Given the description of an element on the screen output the (x, y) to click on. 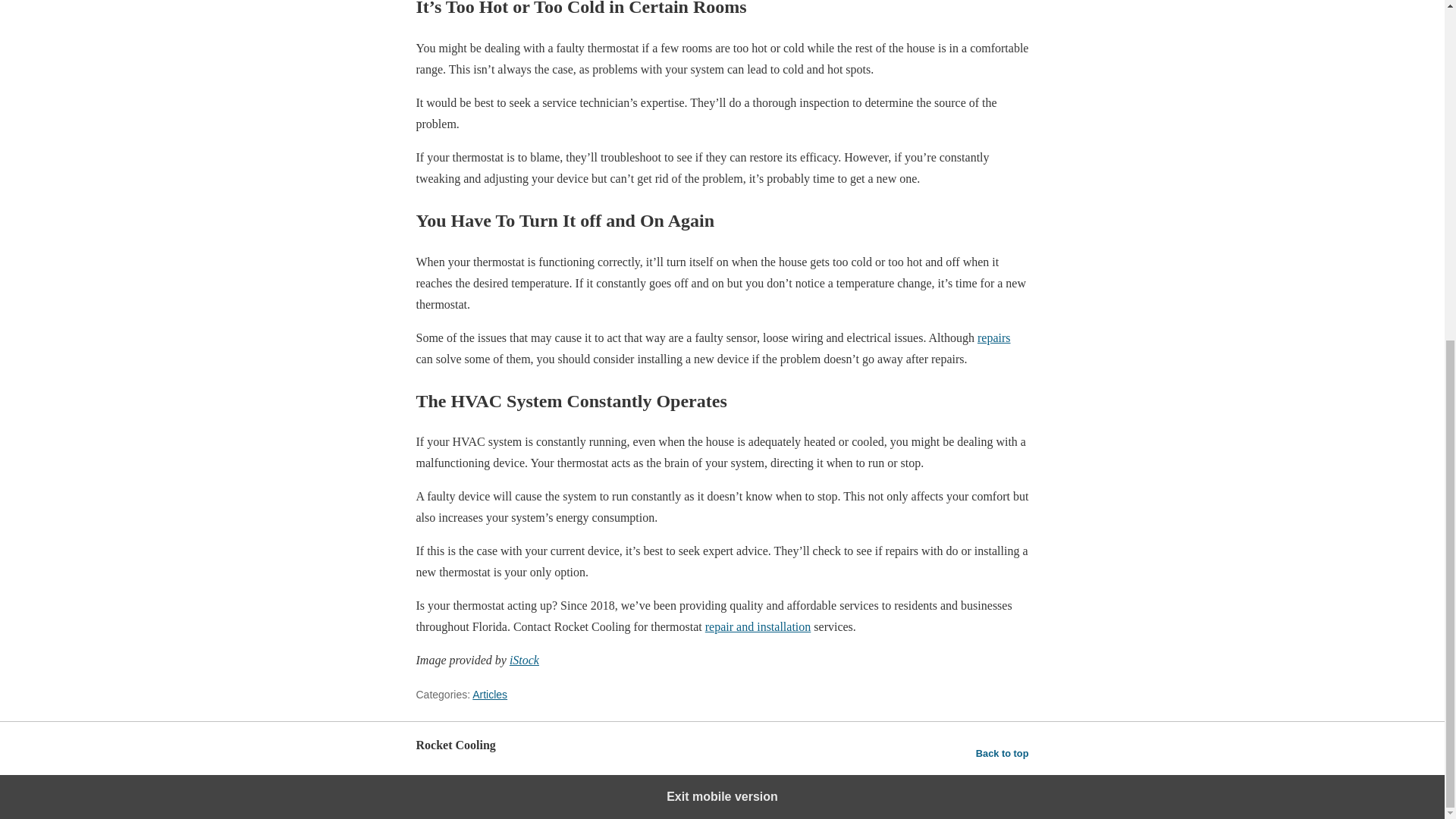
iStock (523, 659)
repairs (993, 337)
Back to top (1002, 753)
repair and installation (757, 626)
Articles (488, 694)
